Given the description of an element on the screen output the (x, y) to click on. 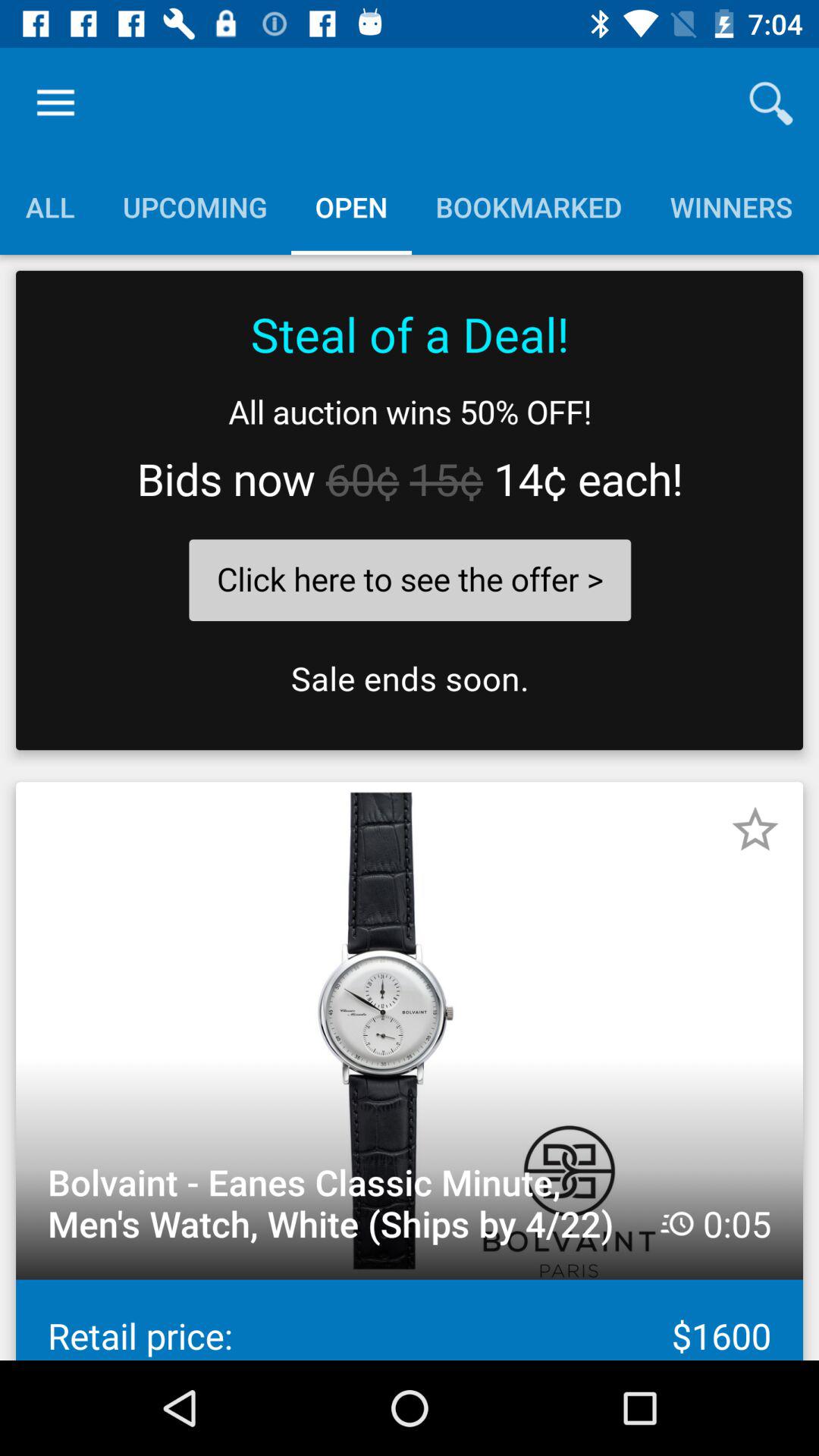
click on the clock icon which is left to the 005 (677, 1223)
select all (50, 206)
select the icon search bar (771, 103)
select from the top all texts which are in blue background (408, 206)
select the complete text which is in the black box (409, 509)
